Given the description of an element on the screen output the (x, y) to click on. 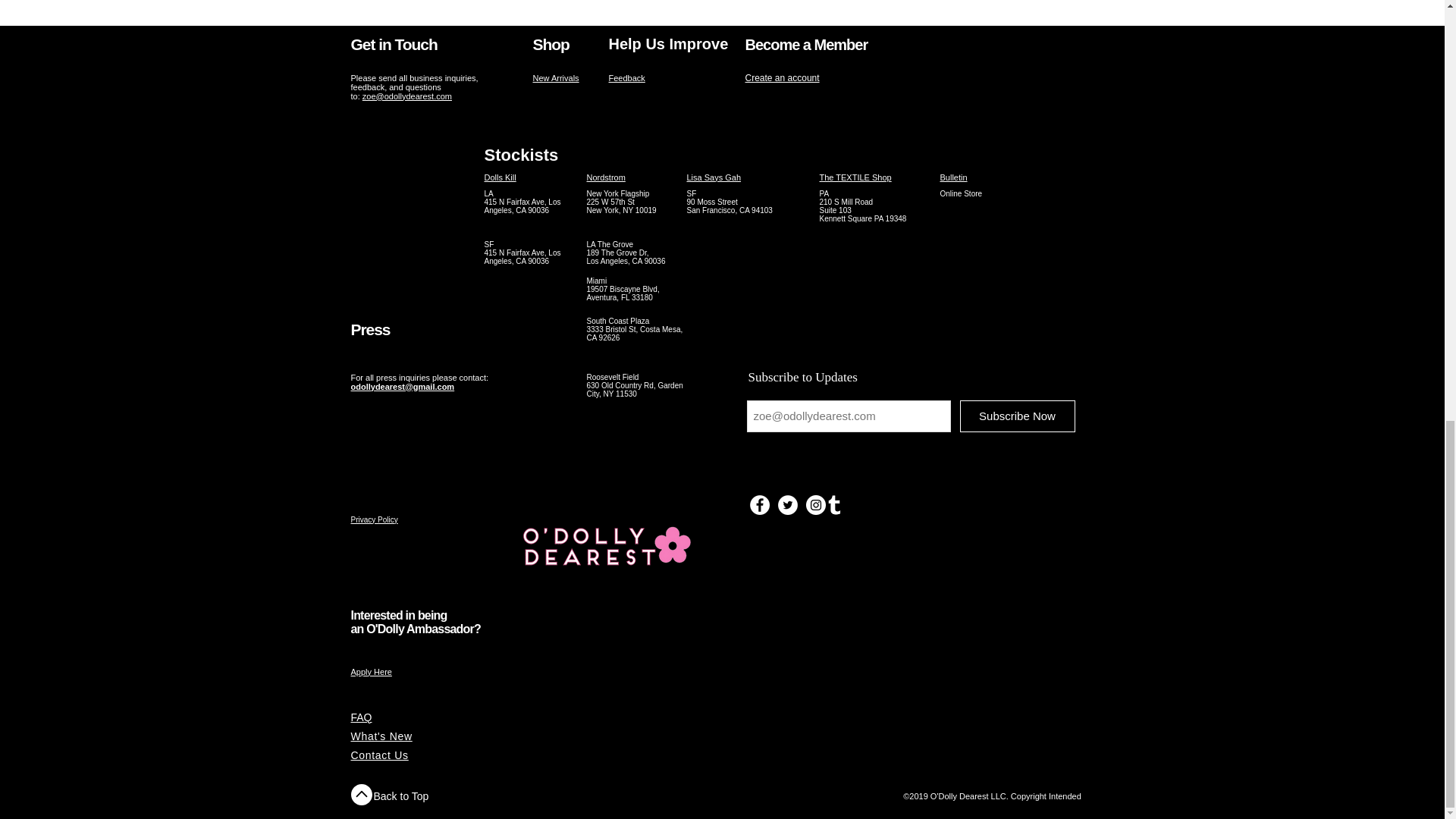
Feedback (626, 77)
Lisa Says Gah (714, 176)
Stockists (520, 154)
Subscribe Now (1017, 416)
Nordstrom (606, 176)
Dolls Kill (499, 176)
Bulletin (954, 176)
Create an account (781, 77)
New Arrivals (555, 77)
Privacy Policy (373, 519)
